Given the description of an element on the screen output the (x, y) to click on. 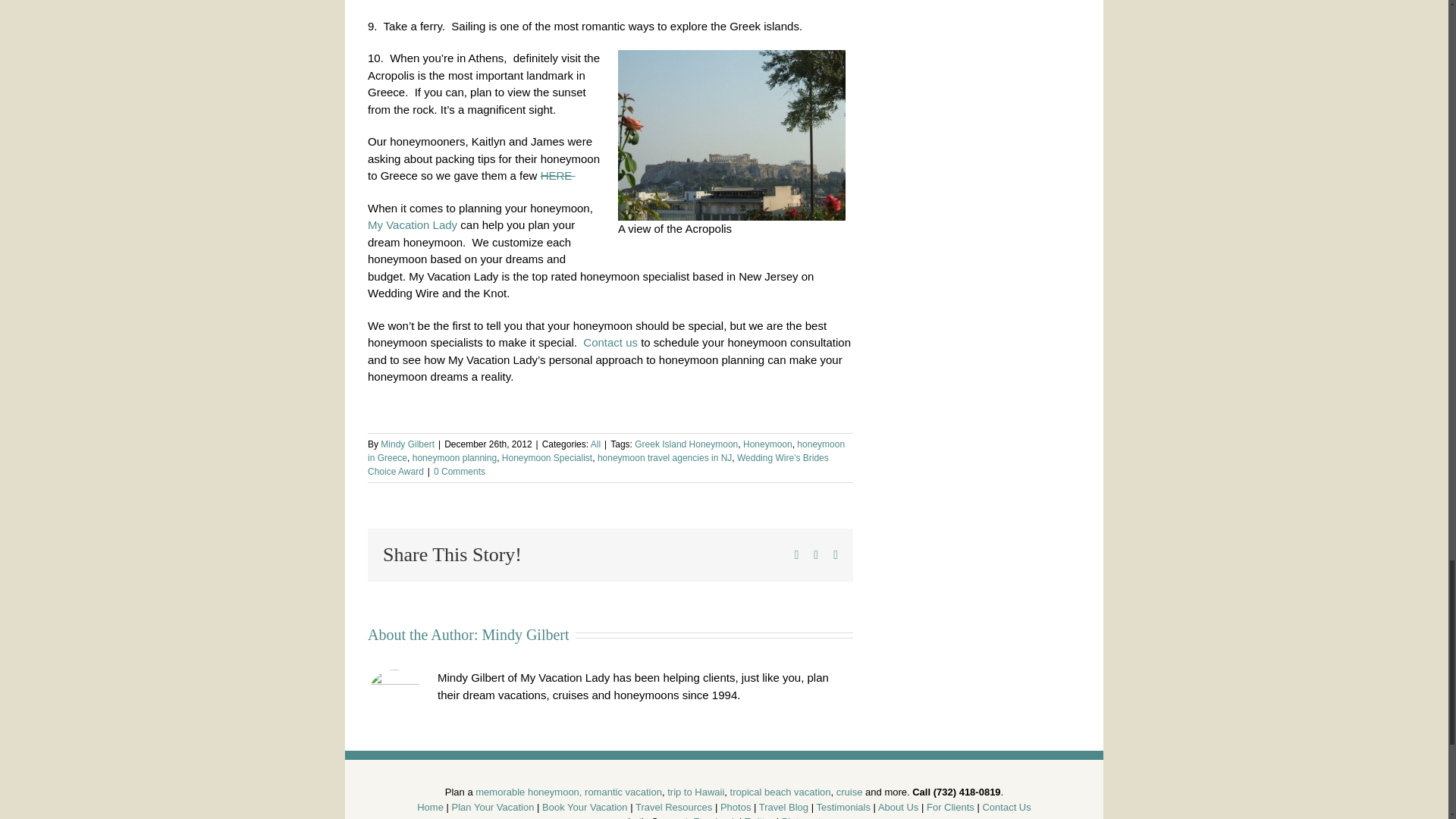
Posts by Mindy Gilbert (525, 634)
view of the acropolis athens (731, 134)
Posts by Mindy Gilbert (406, 443)
